Given the description of an element on the screen output the (x, y) to click on. 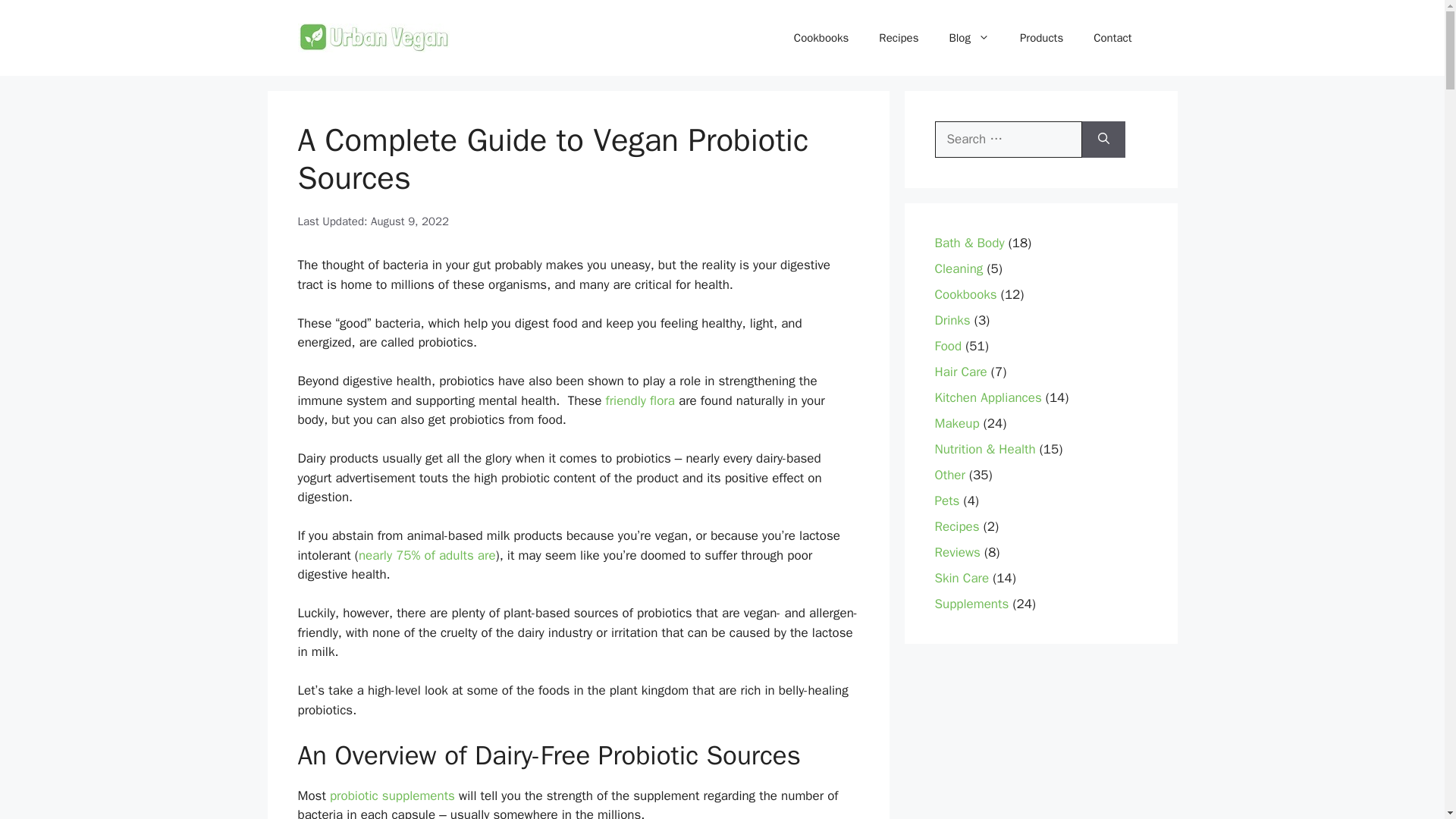
Blog (968, 37)
Cookbooks (821, 37)
friendly flora (640, 400)
Contact (1112, 37)
Search for: (1007, 139)
Products (1041, 37)
probiotic supplements (392, 795)
Recipes (898, 37)
